Given the description of an element on the screen output the (x, y) to click on. 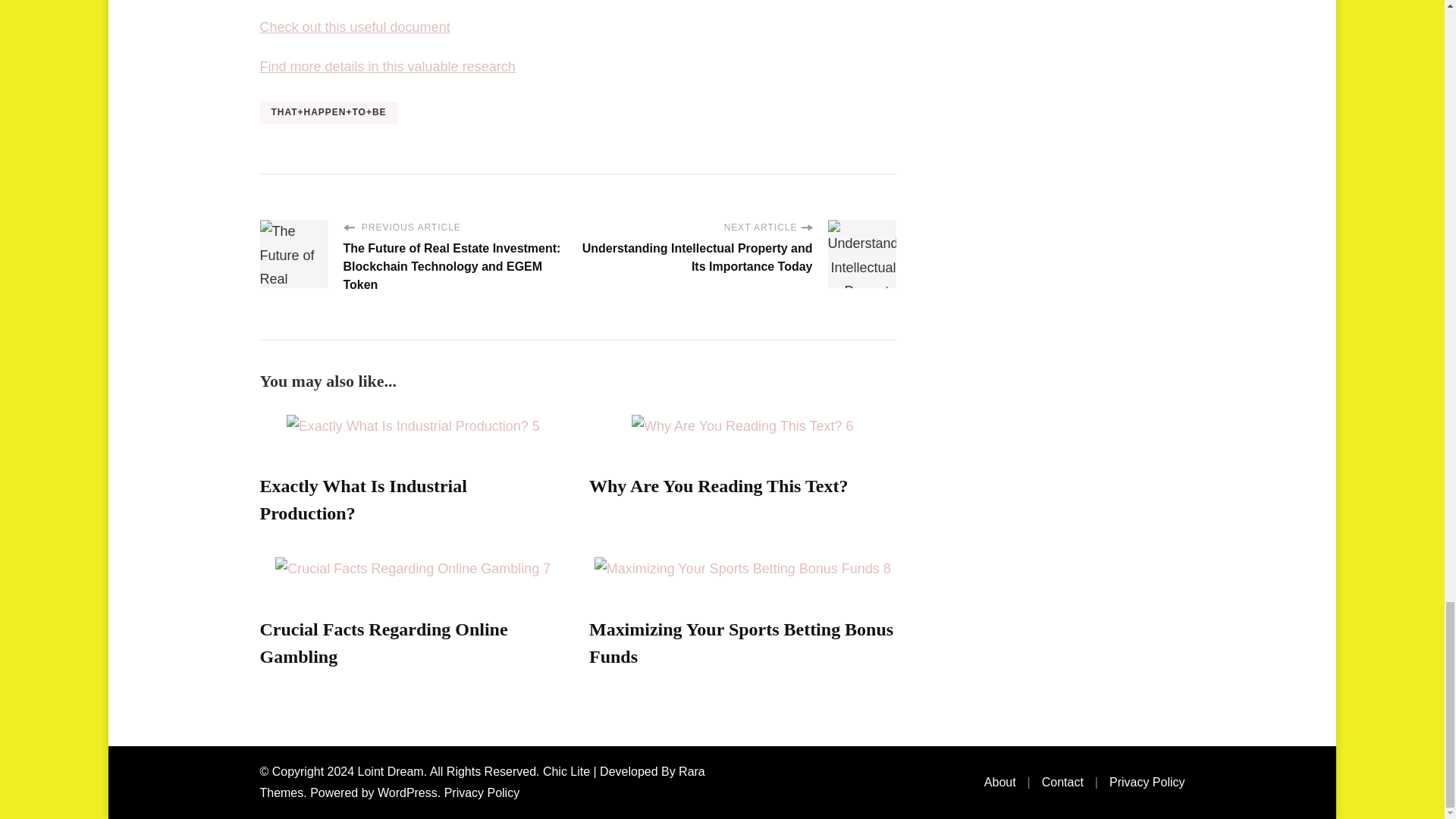
Exactly What Is Industrial Production? (362, 499)
Check out this useful document (354, 27)
Find more details in this valuable research (387, 66)
Maximizing Your Sports Betting Bonus Funds (741, 642)
Crucial Facts Regarding Online Gambling (382, 642)
Why Are You Reading This Text? (718, 485)
